Given the description of an element on the screen output the (x, y) to click on. 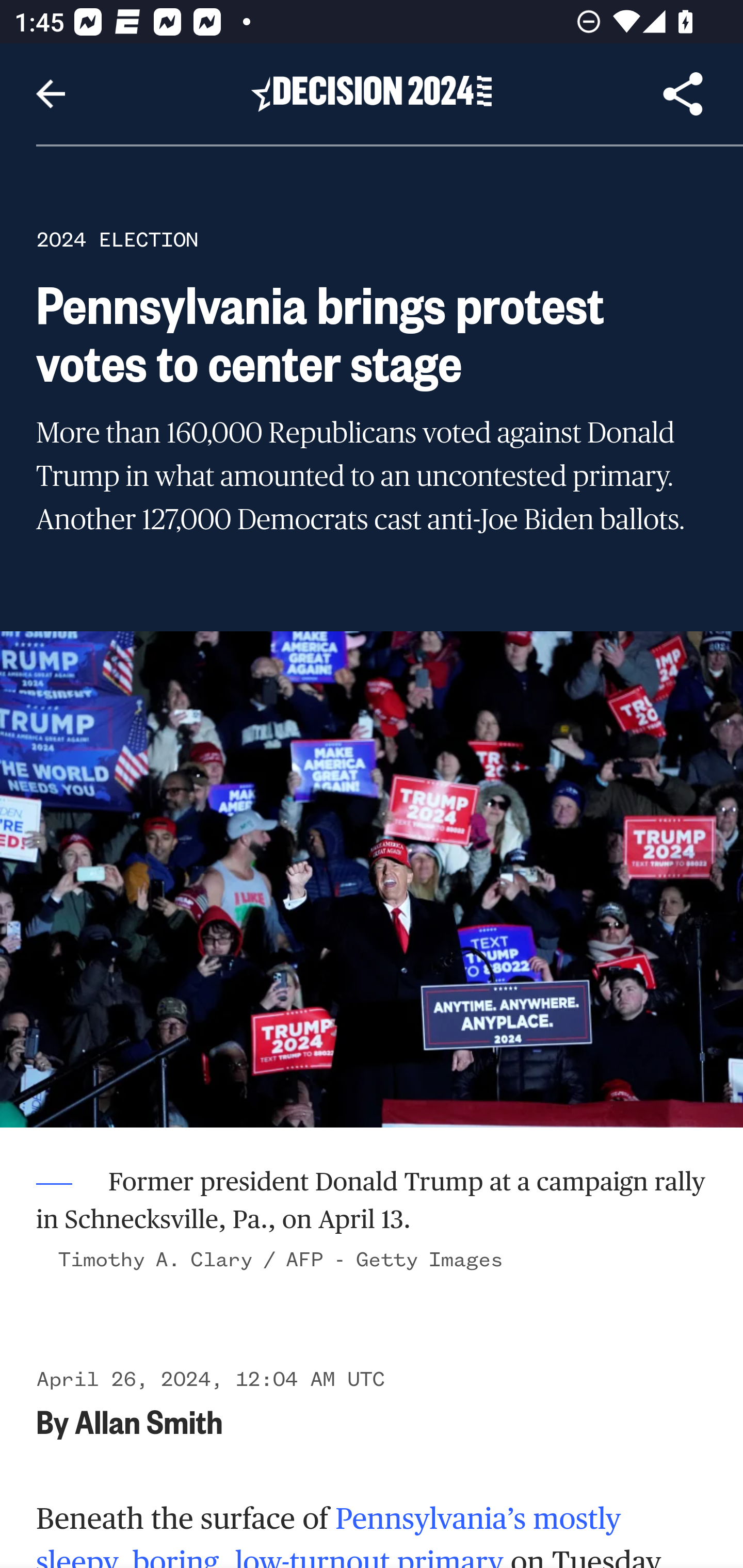
Navigate up (50, 93)
Share Article, button (683, 94)
Header, Decision 2024 (371, 93)
2024 ELECTION (117, 239)
Allan Smith (148, 1420)
